Given the description of an element on the screen output the (x, y) to click on. 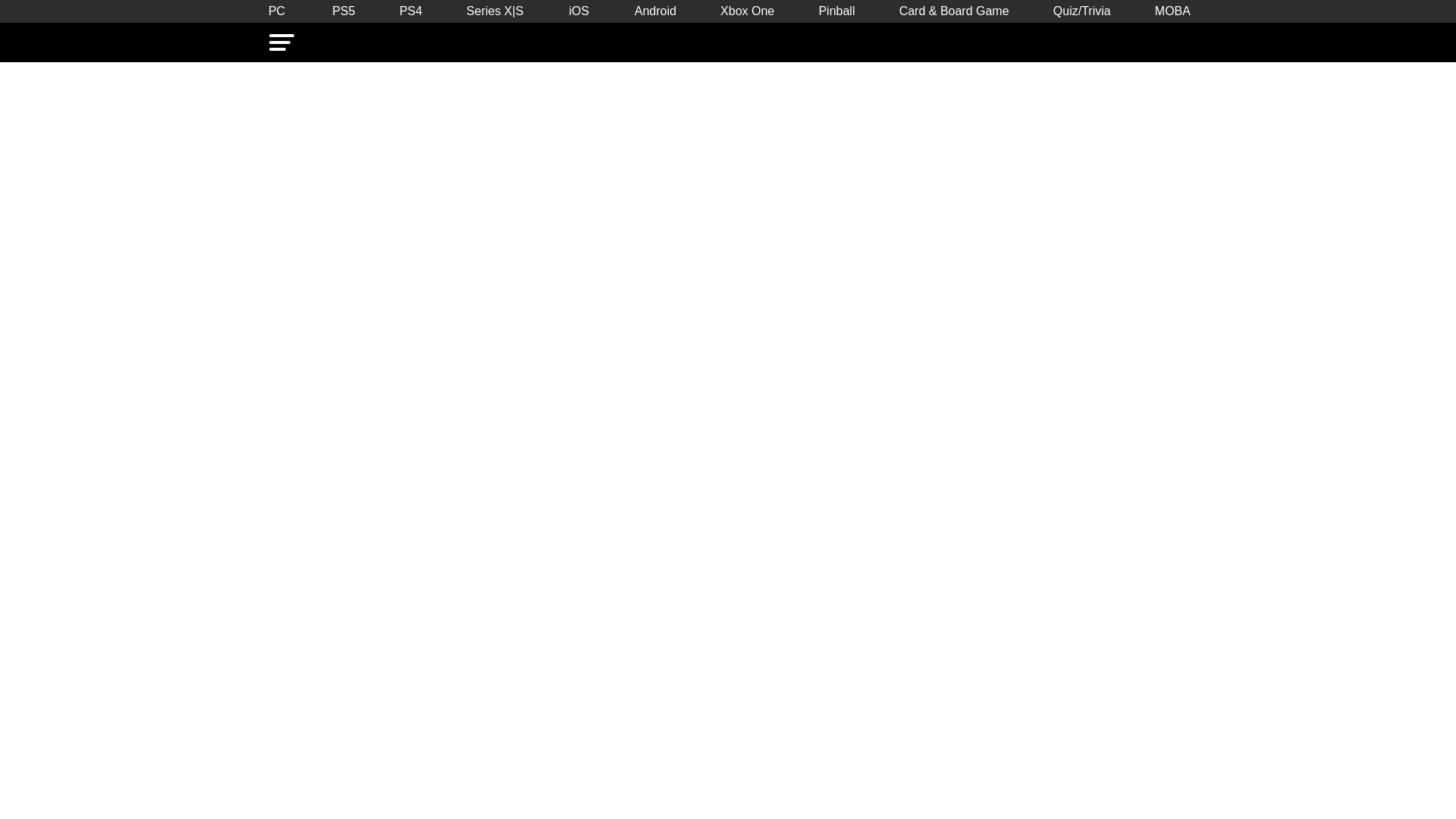
MOBA (1172, 11)
iOS (579, 11)
PlayStation 5 (343, 11)
PlayStation 4 (410, 11)
Xbox One (747, 11)
Android (655, 11)
Pinball (835, 11)
